Given the description of an element on the screen output the (x, y) to click on. 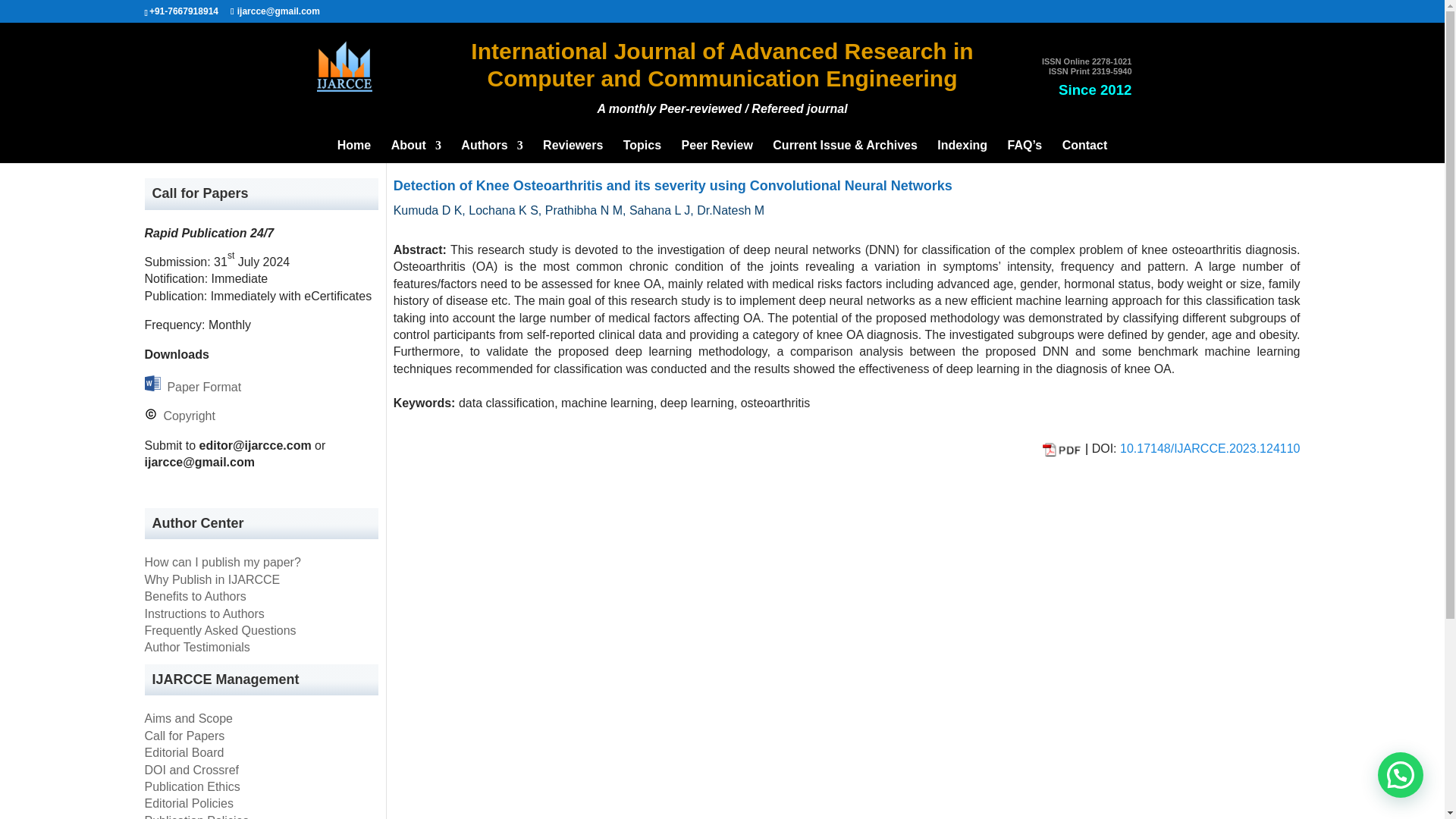
Home (354, 151)
Peer Review (716, 151)
Reviewers (572, 151)
Contact (1085, 151)
Authors (491, 151)
About (416, 151)
Indexing (962, 151)
Topics (642, 151)
